Given the description of an element on the screen output the (x, y) to click on. 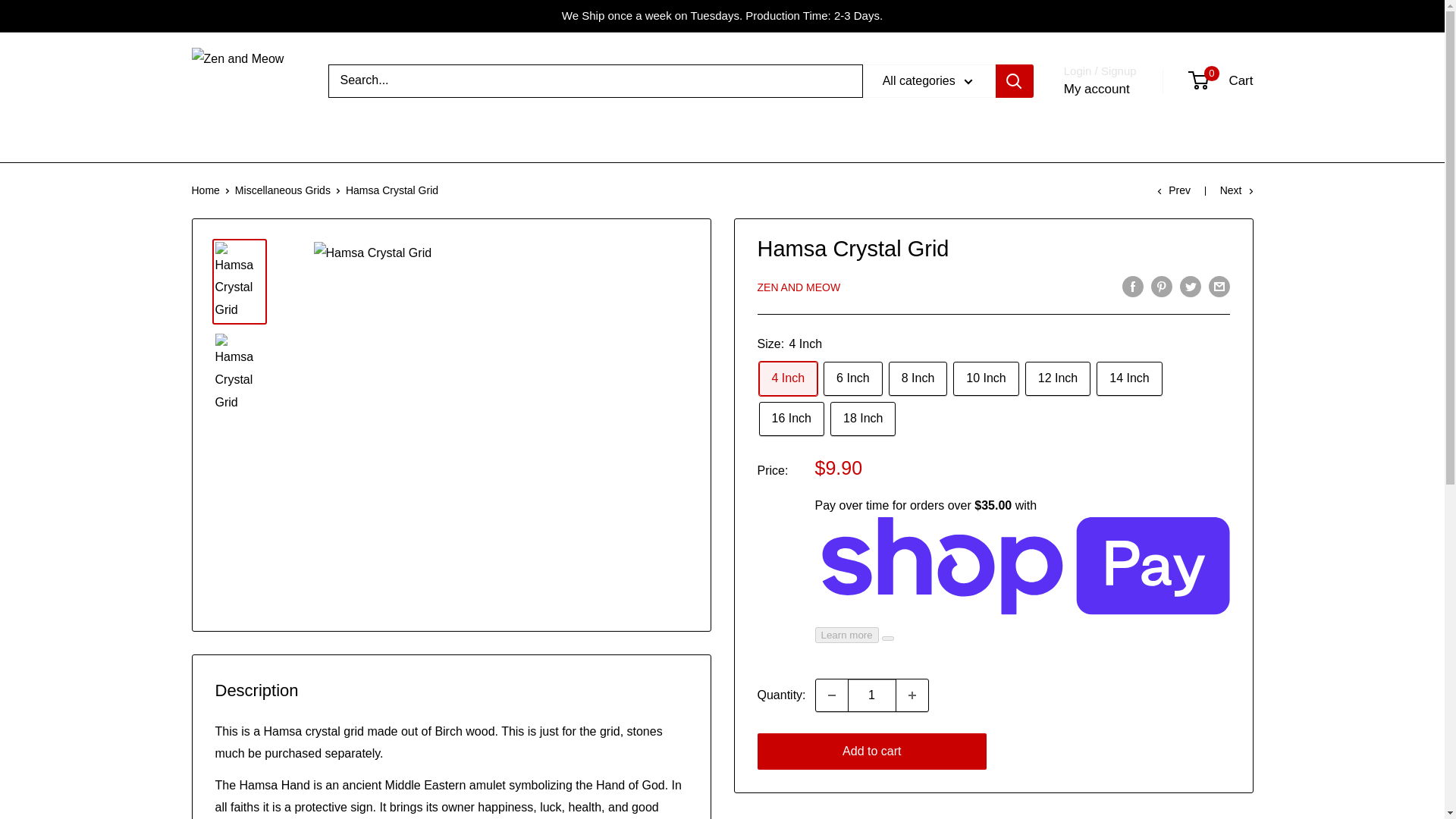
1 (871, 695)
18 Inch (862, 418)
4 Inch (787, 378)
6 Inch (853, 378)
Increase quantity by 1 (912, 695)
12 Inch (1057, 378)
16 Inch (791, 418)
14 Inch (1128, 378)
8 Inch (917, 378)
Decrease quantity by 1 (831, 695)
10 Inch (985, 378)
